Given the description of an element on the screen output the (x, y) to click on. 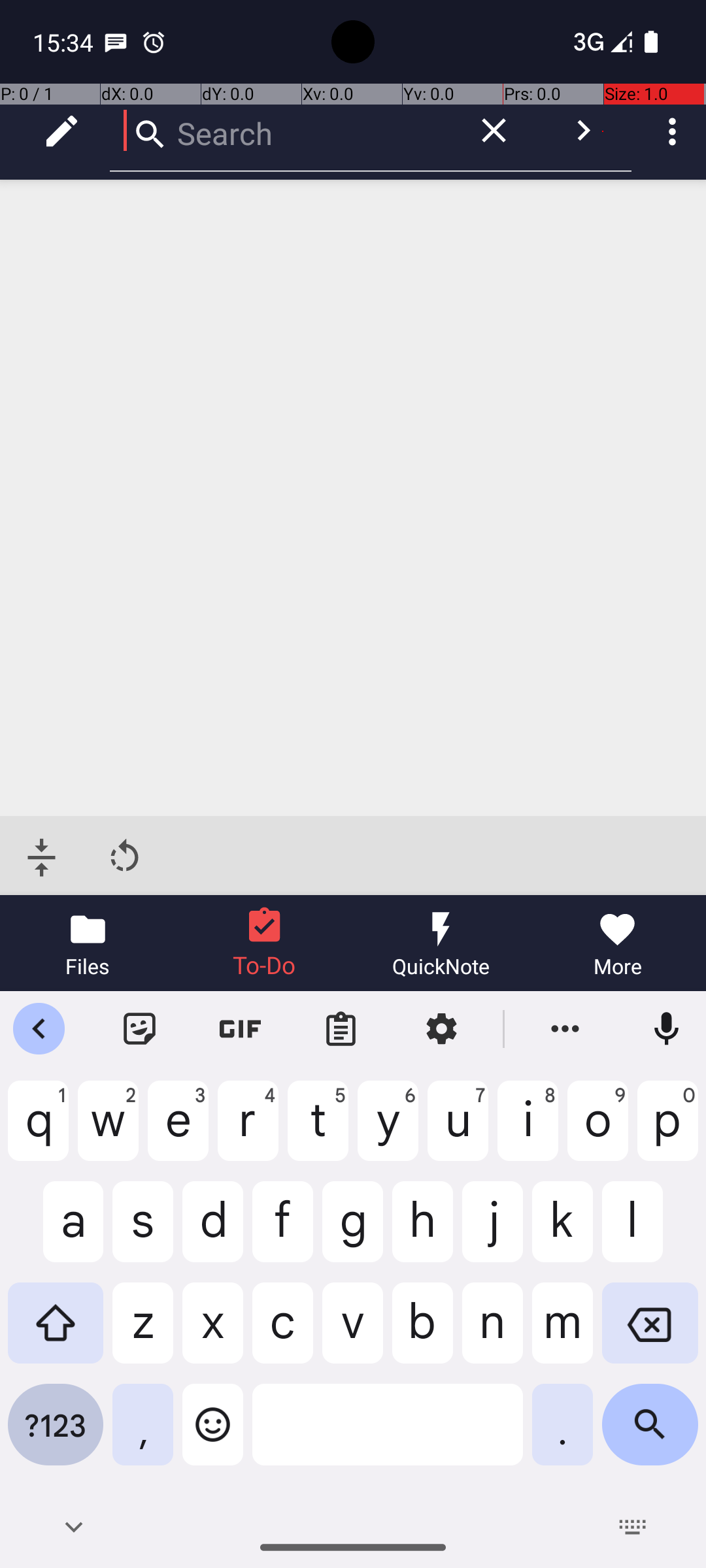
   Search Element type: android.widget.AutoCompleteTextView (280, 130)
Submit query Element type: android.widget.ImageView (583, 130)
